Given the description of an element on the screen output the (x, y) to click on. 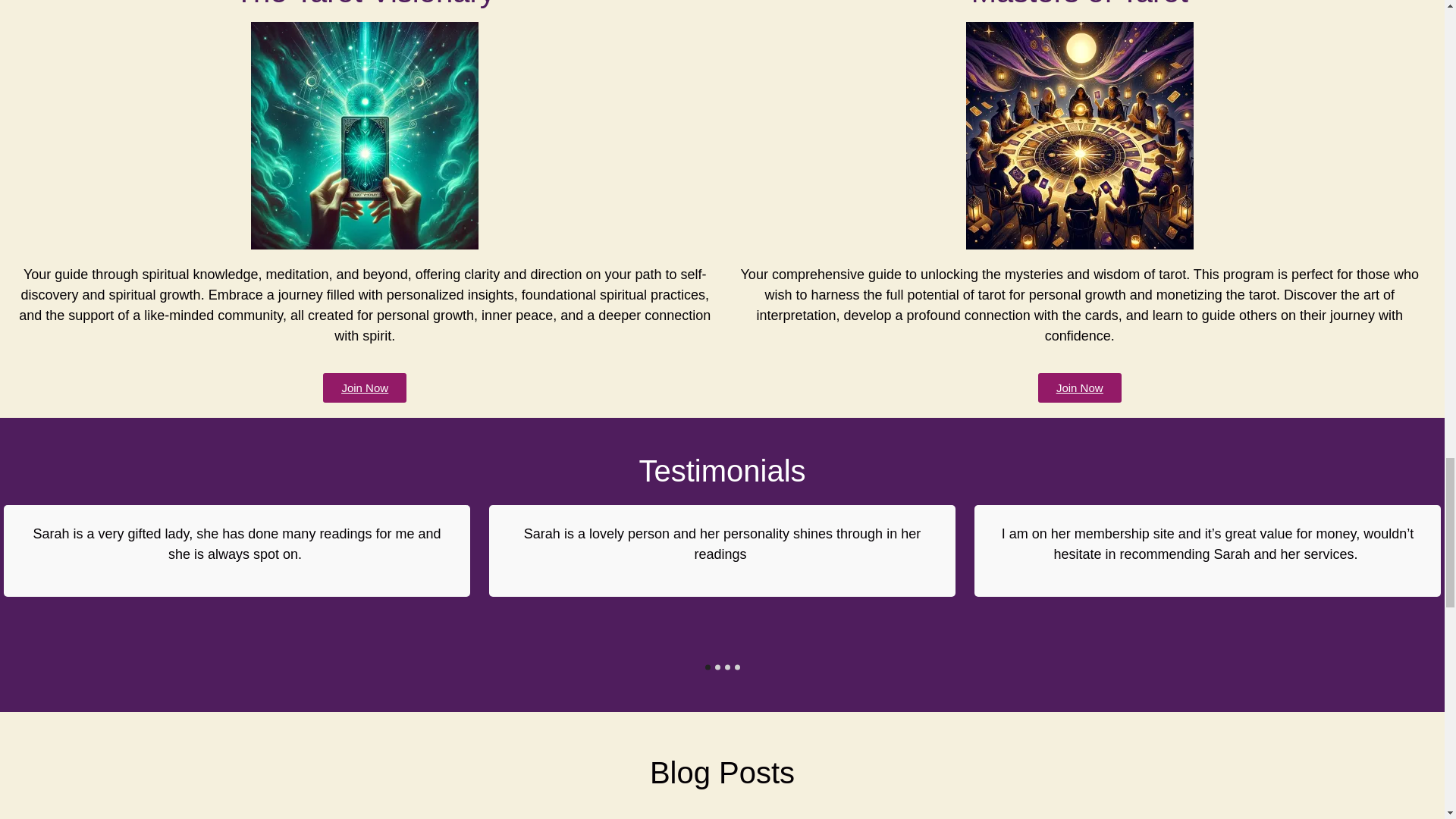
Join Now (364, 387)
Join Now (1079, 387)
